Given the description of an element on the screen output the (x, y) to click on. 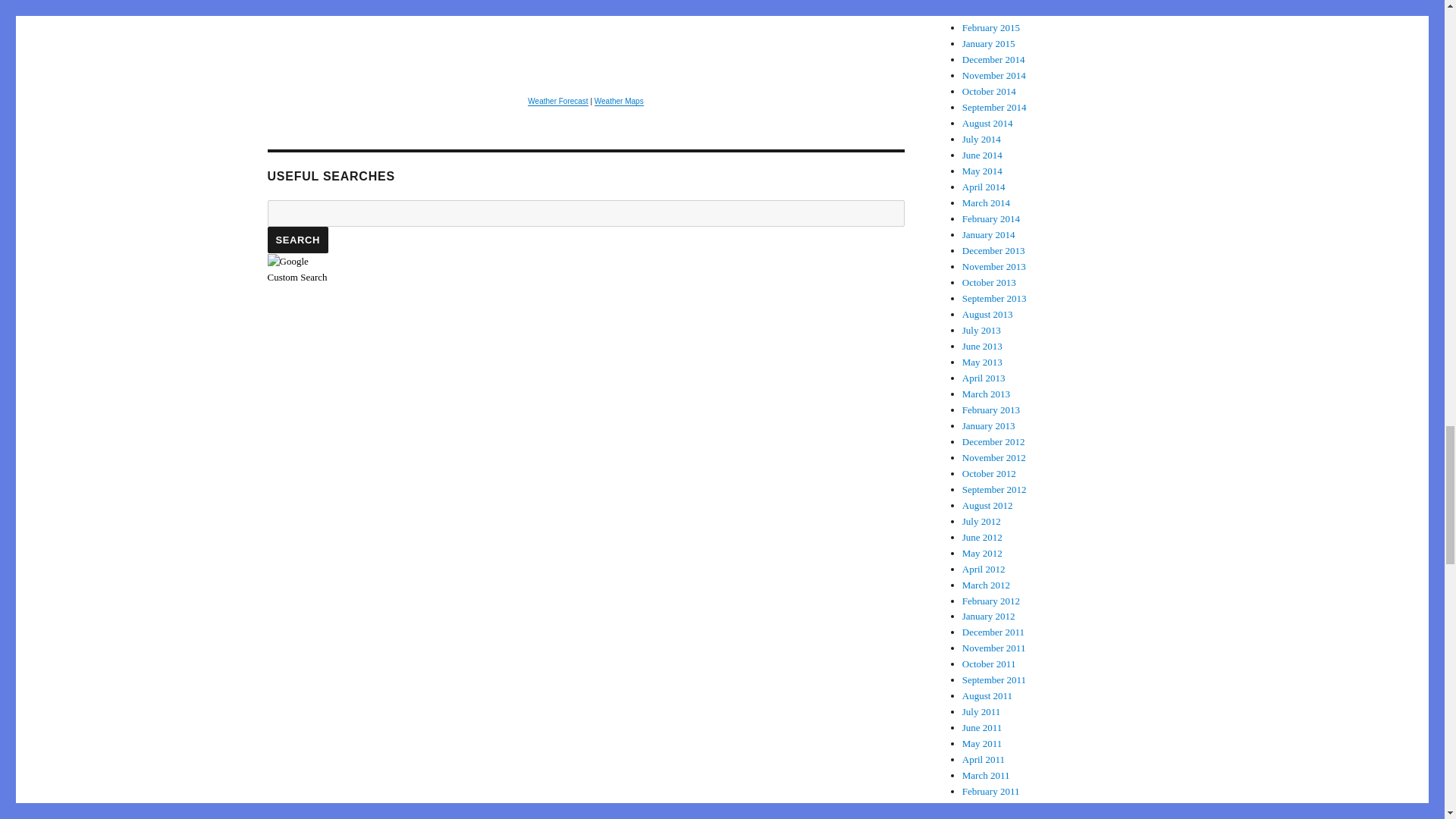
Weather Maps (618, 101)
Search (297, 239)
Weather Forecast (557, 101)
Search (297, 239)
